Given the description of an element on the screen output the (x, y) to click on. 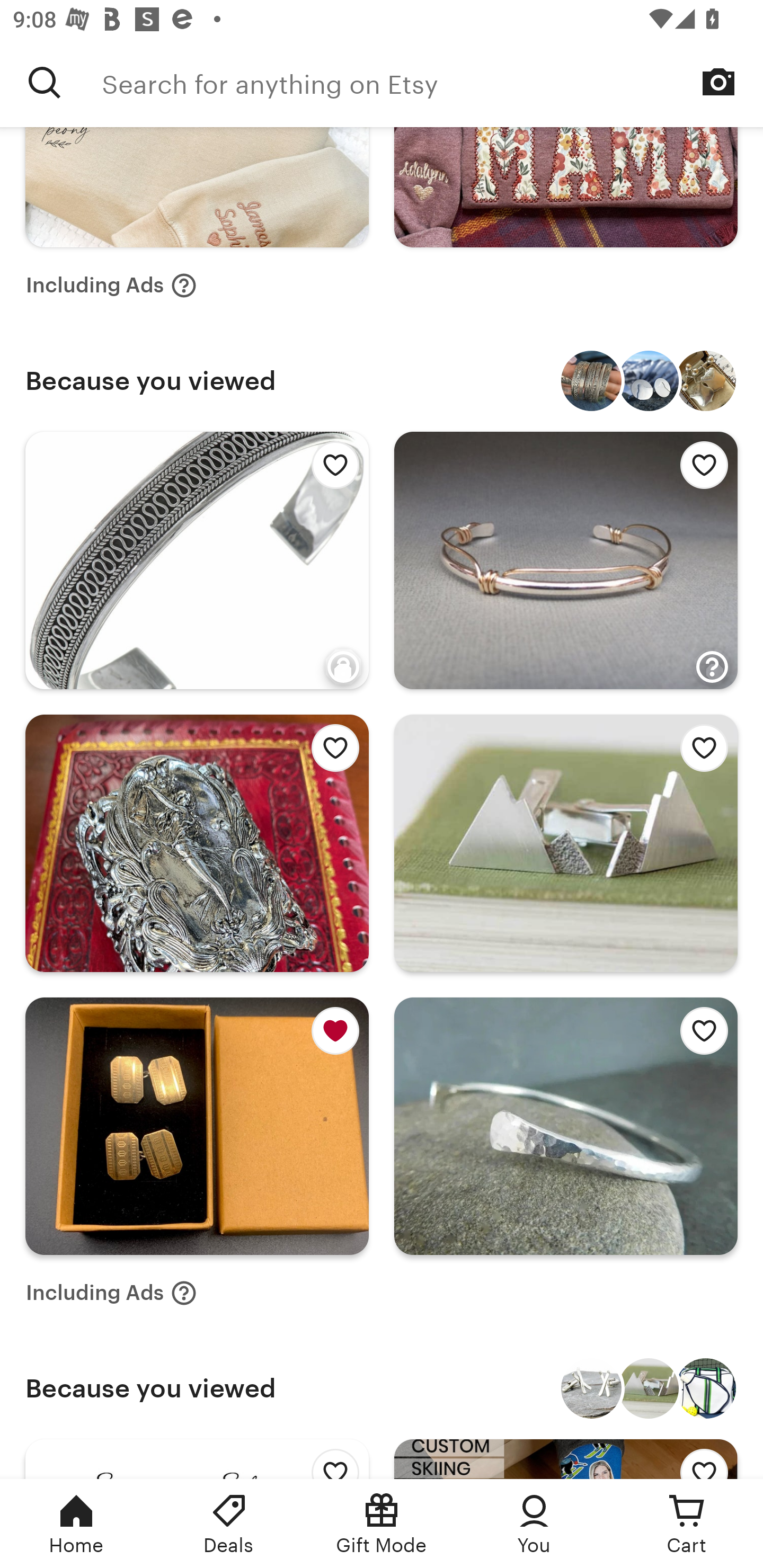
Search for anything on Etsy (44, 82)
Search by image (718, 81)
Search for anything on Etsy (432, 82)
Including Ads (111, 285)
Including Ads (111, 1292)
Personalised Ski Skiing Silver Cufflinks (591, 1388)
Deals (228, 1523)
Gift Mode (381, 1523)
You (533, 1523)
Cart (686, 1523)
